Given the description of an element on the screen output the (x, y) to click on. 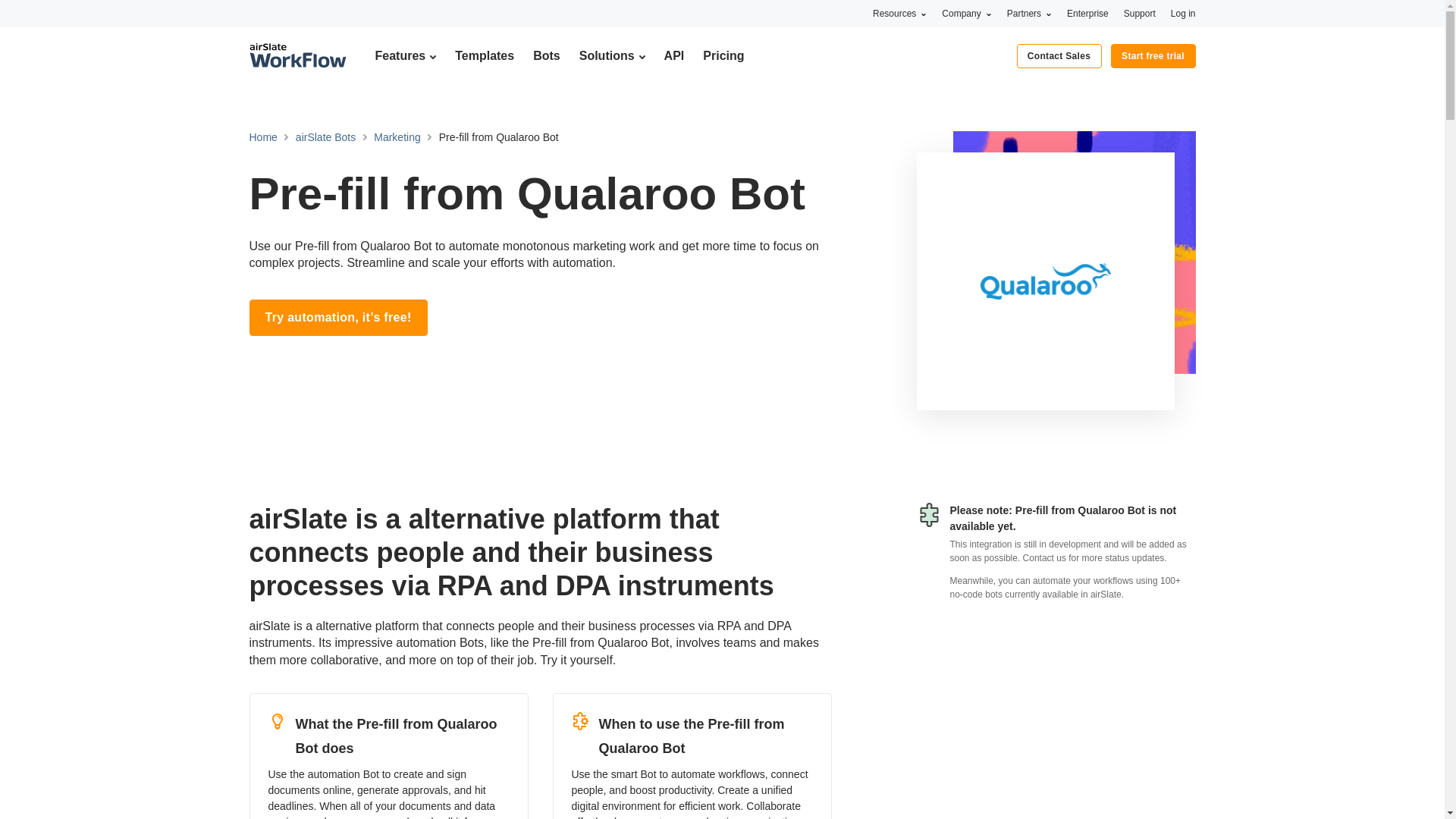
Templates (483, 55)
Company (966, 13)
Log in (1182, 13)
Resources (899, 13)
Partners (1029, 13)
Enterprise (1087, 13)
Support (1140, 13)
